Given the description of an element on the screen output the (x, y) to click on. 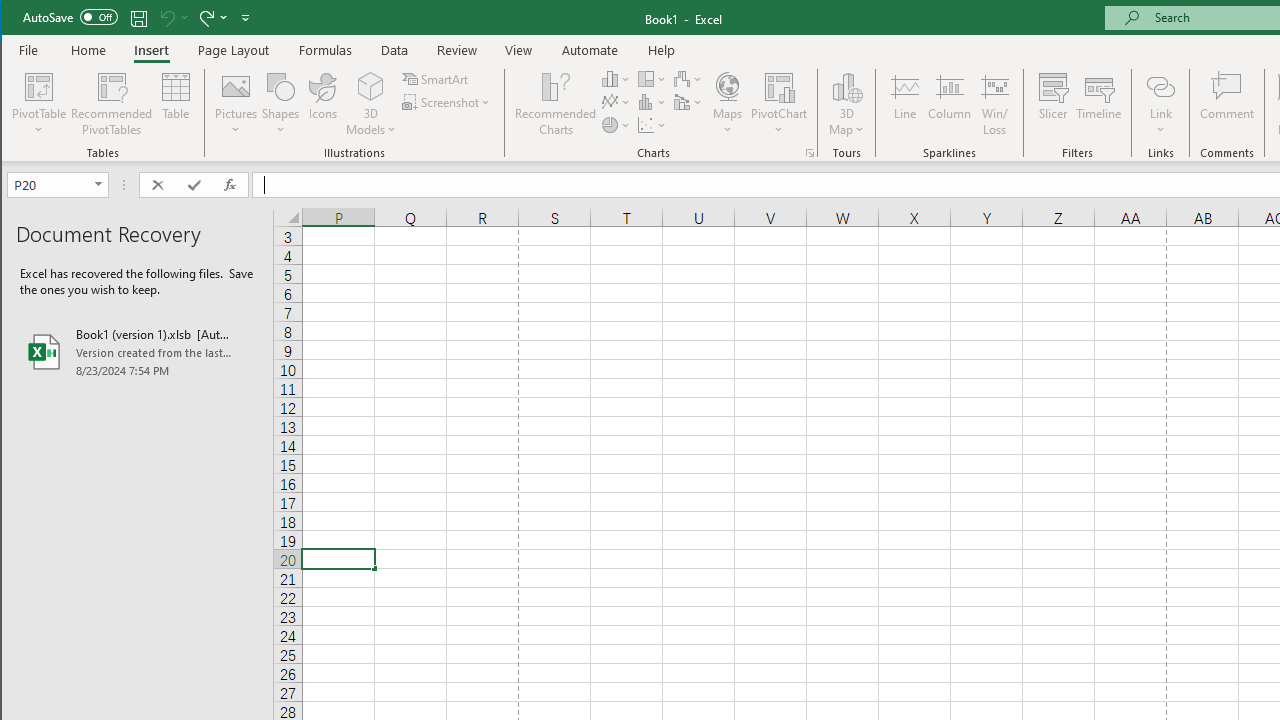
Insert Column or Bar Chart (616, 78)
Insert Waterfall, Funnel, Stock, Surface, or Radar Chart (688, 78)
View (518, 50)
Insert Combo Chart (688, 101)
Quick Access Toolbar (137, 17)
Insert Statistic Chart (652, 101)
Data (395, 50)
Win/Loss (995, 104)
PivotChart (779, 104)
